Given the description of an element on the screen output the (x, y) to click on. 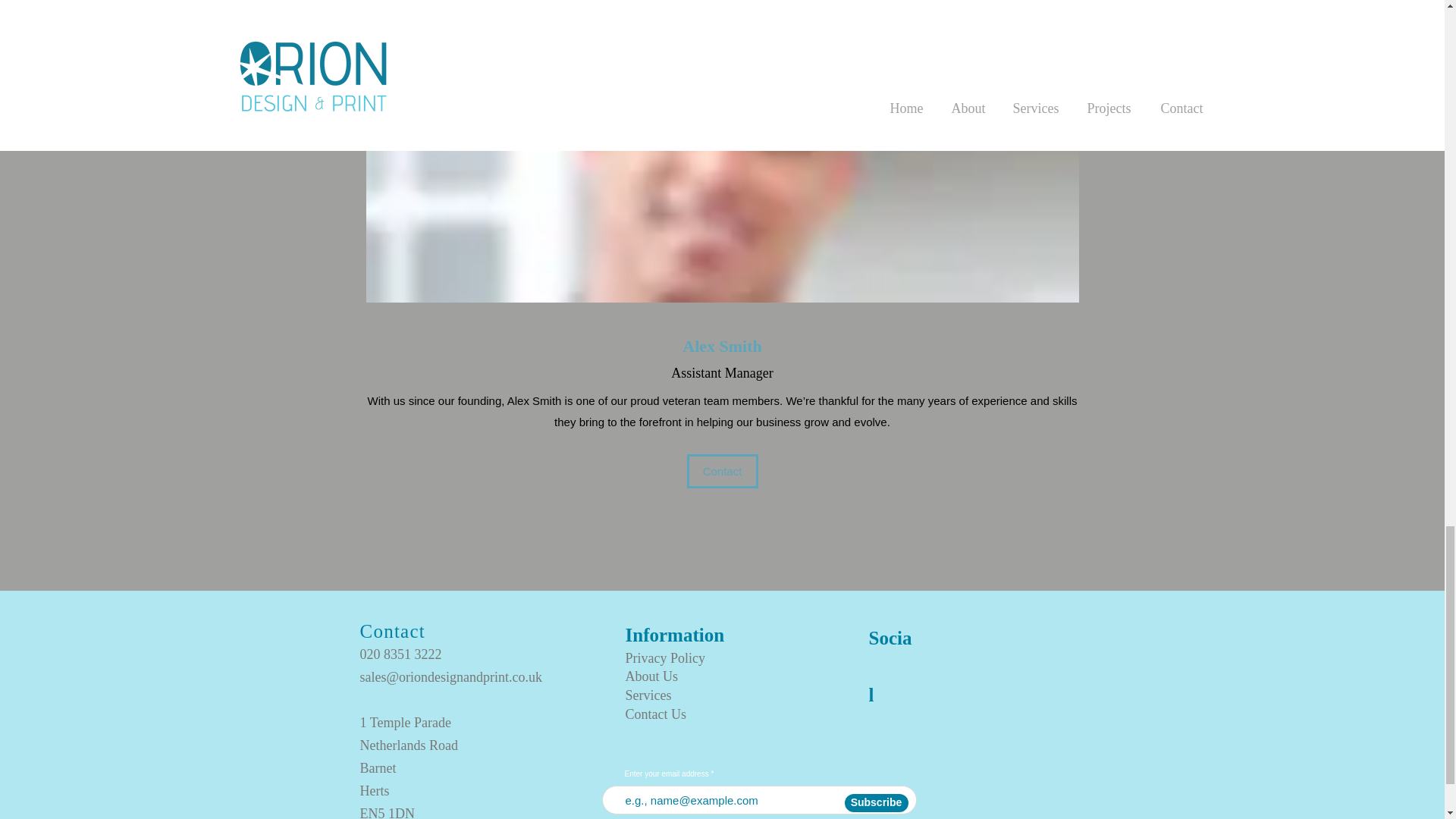
Subscribe (876, 802)
